Given the description of an element on the screen output the (x, y) to click on. 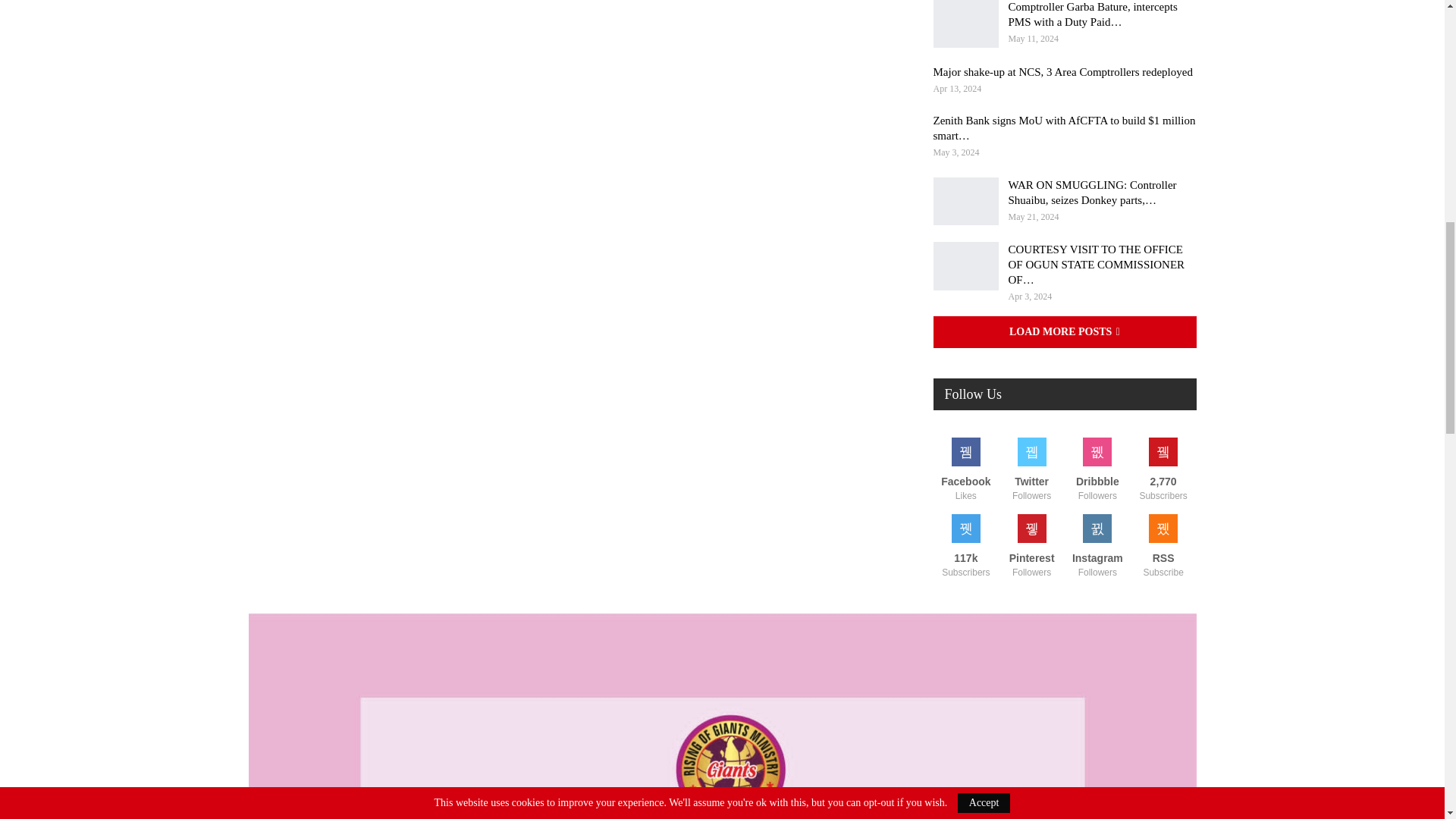
Major shake-up at NCS, 3 Area Comptrollers redeployed (1062, 71)
Load More Posts (1064, 332)
